Given the description of an element on the screen output the (x, y) to click on. 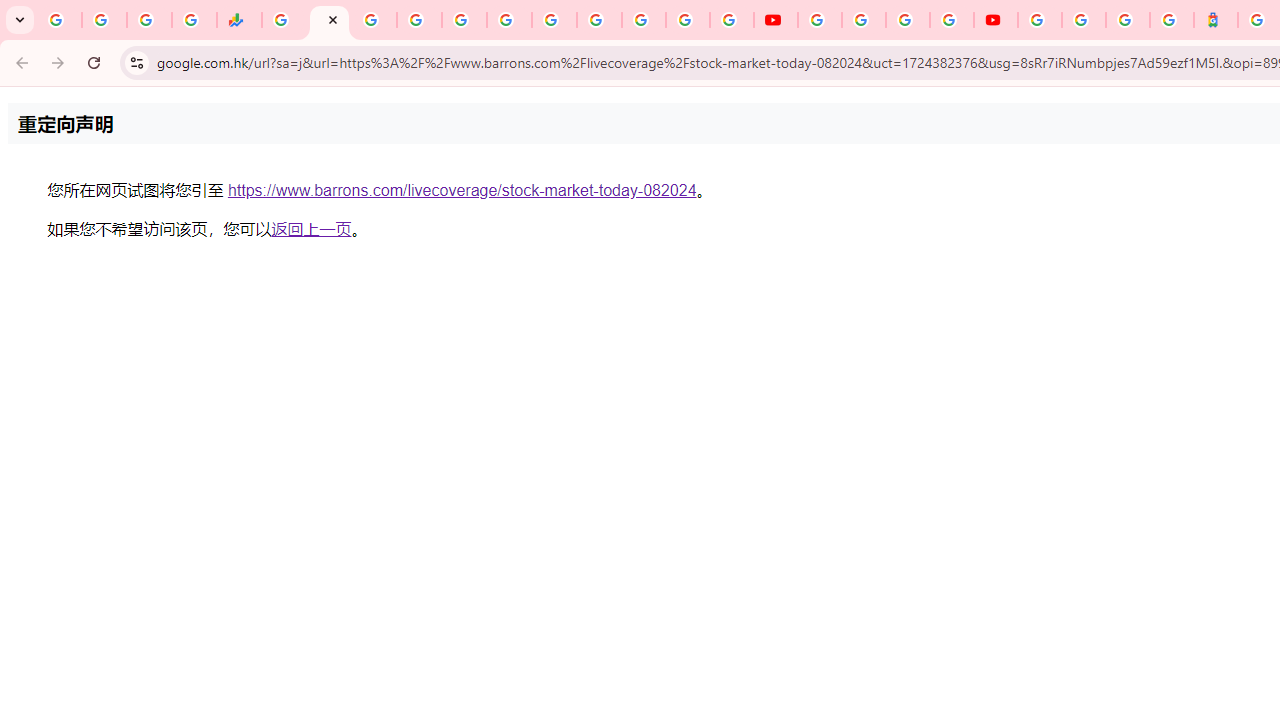
Google Workspace Admin Community (59, 20)
Privacy Checkup (731, 20)
Android TV Policies and Guidelines - Transparency Center (554, 20)
Sign in - Google Accounts (1083, 20)
Sign in - Google Accounts (643, 20)
